Given the description of an element on the screen output the (x, y) to click on. 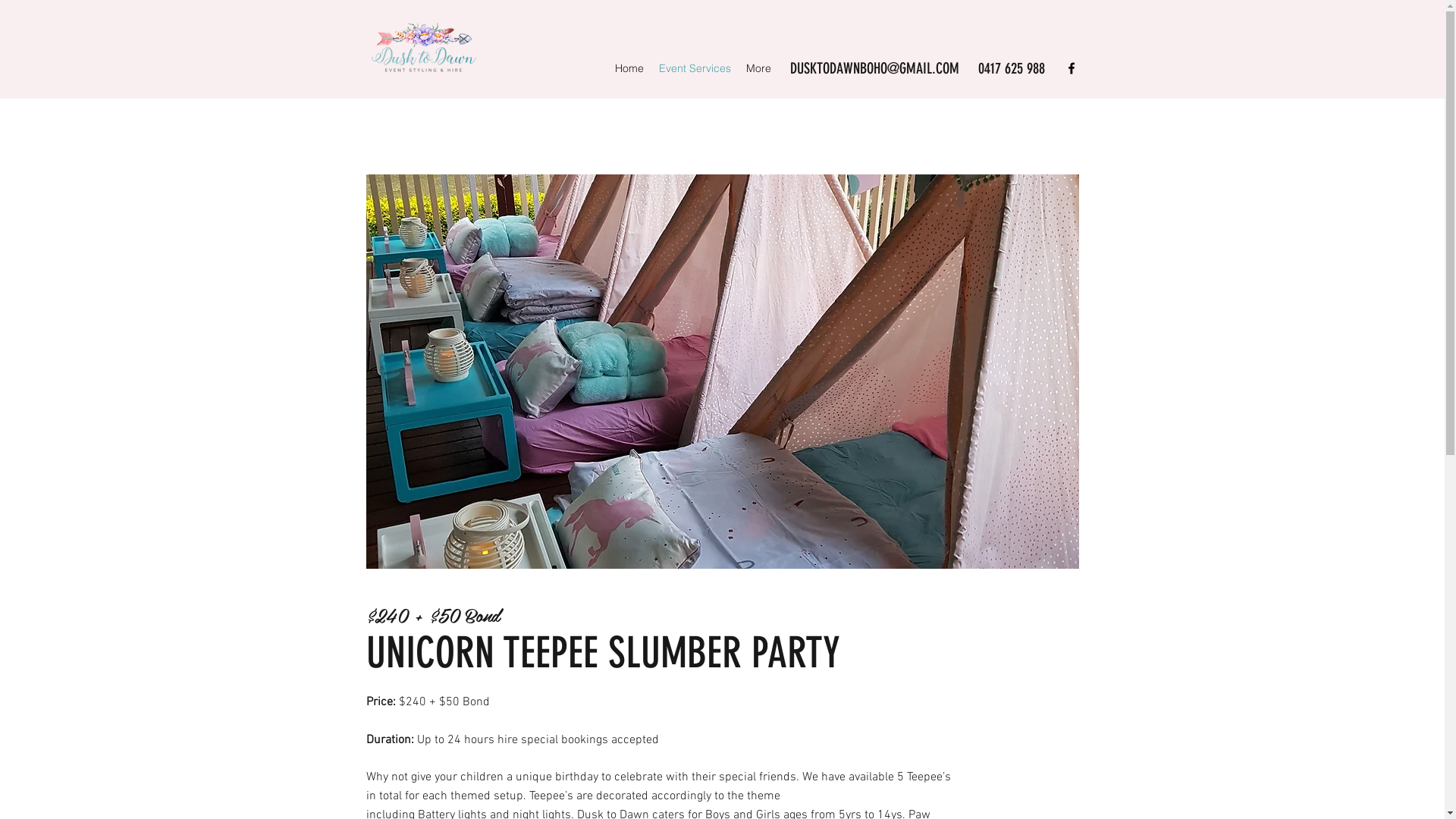
Event Services Element type: text (693, 67)
DUSKTODAWNBOHO@GMAIL.COM Element type: text (874, 68)
Home Element type: text (628, 67)
